Given the description of an element on the screen output the (x, y) to click on. 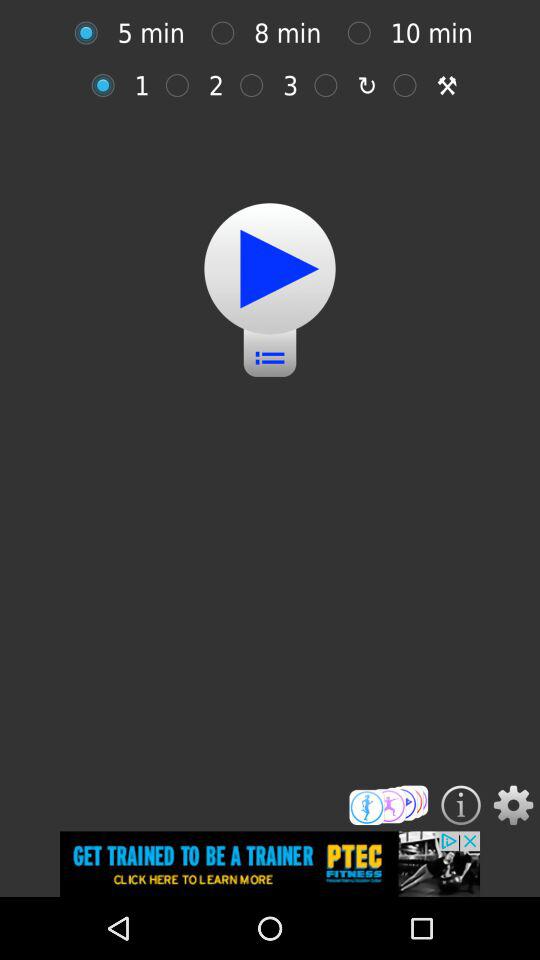
get more info (460, 805)
